Given the description of an element on the screen output the (x, y) to click on. 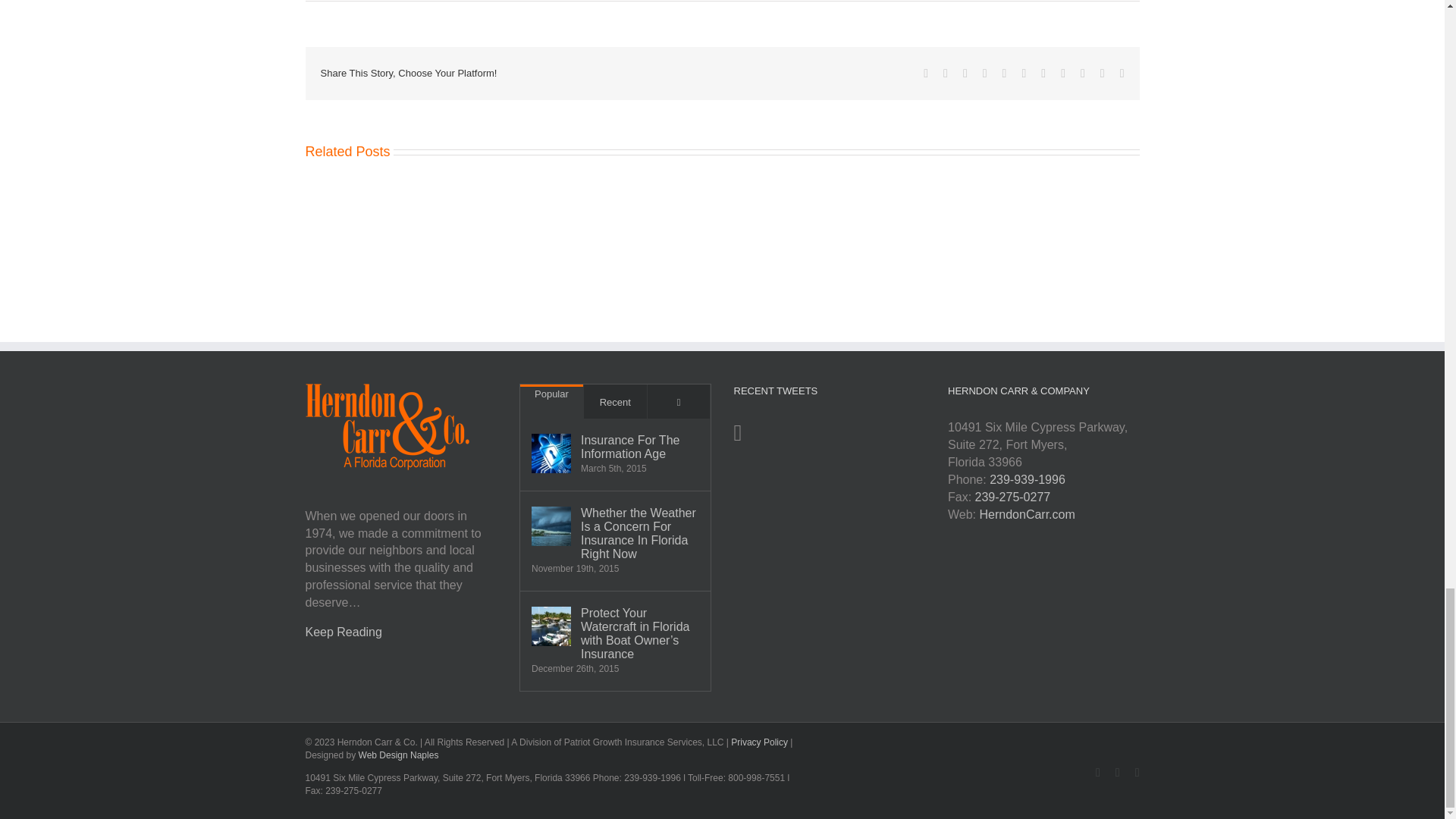
About Us (342, 631)
